Given the description of an element on the screen output the (x, y) to click on. 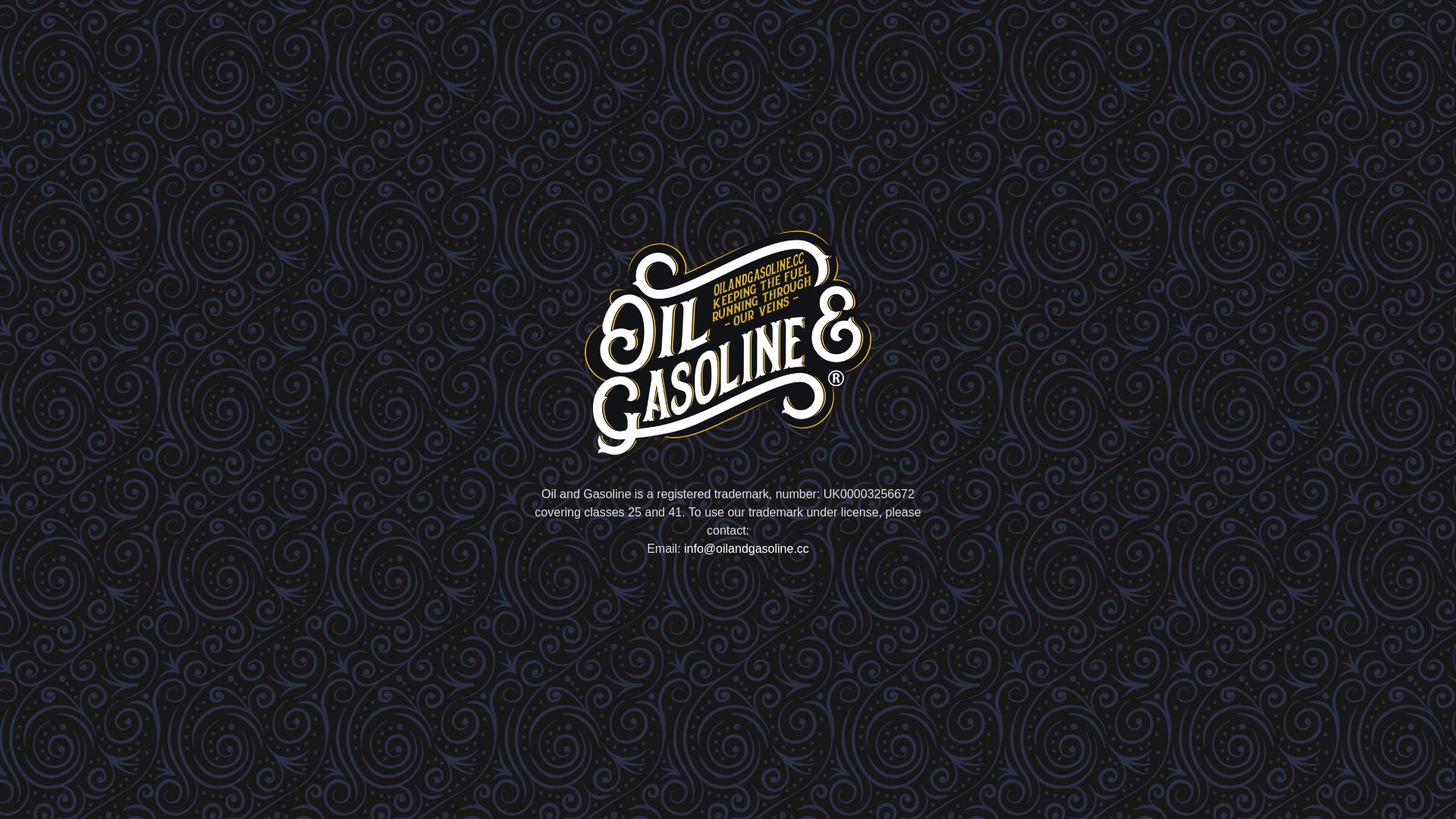
info@oilandgasoline.cc Element type: text (746, 548)
